Given the description of an element on the screen output the (x, y) to click on. 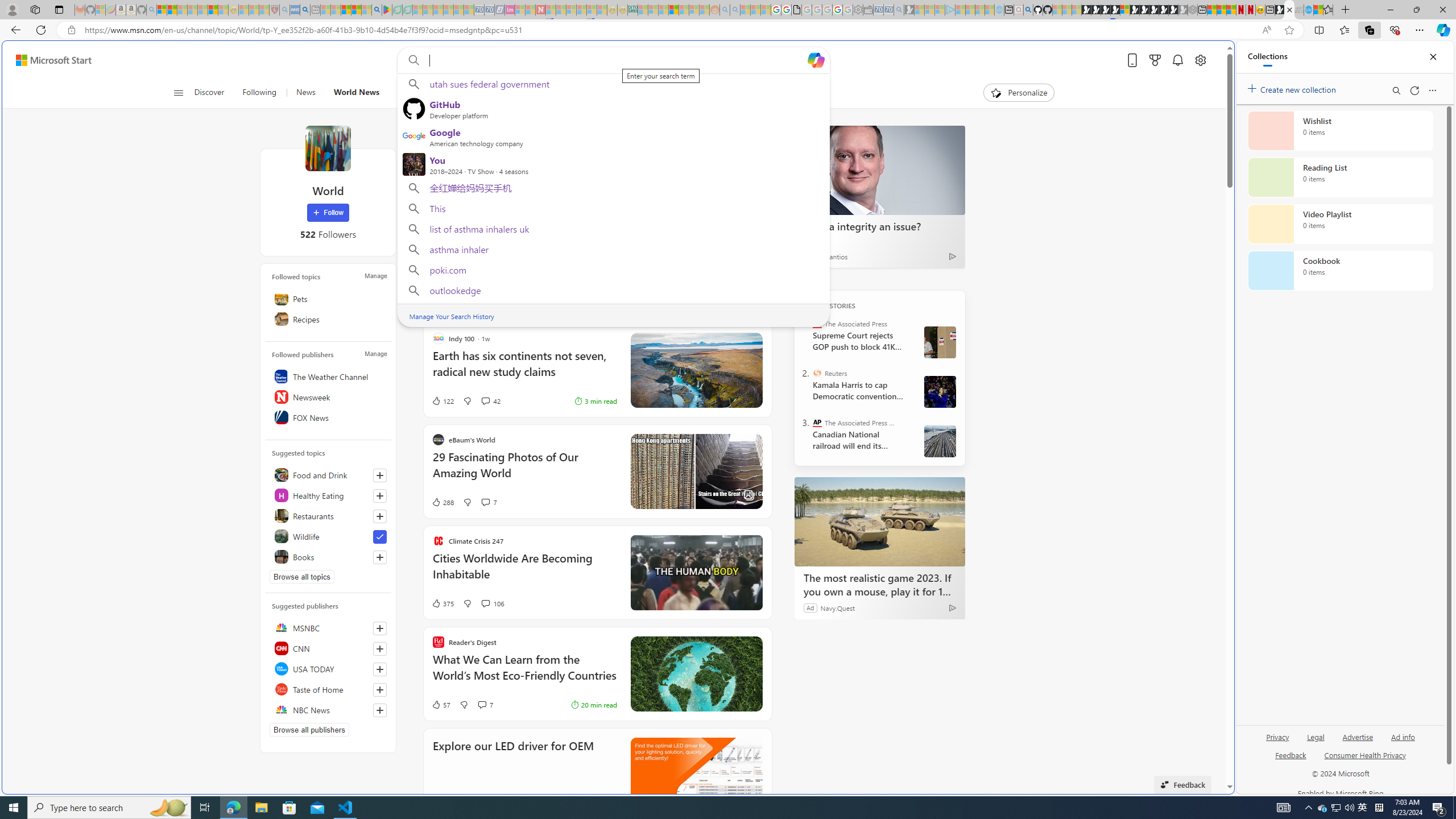
Search or enter web address (922, 108)
Settings - Sleeping (857, 9)
Video Playlist collection, 0 items (1339, 223)
